Given the description of an element on the screen output the (x, y) to click on. 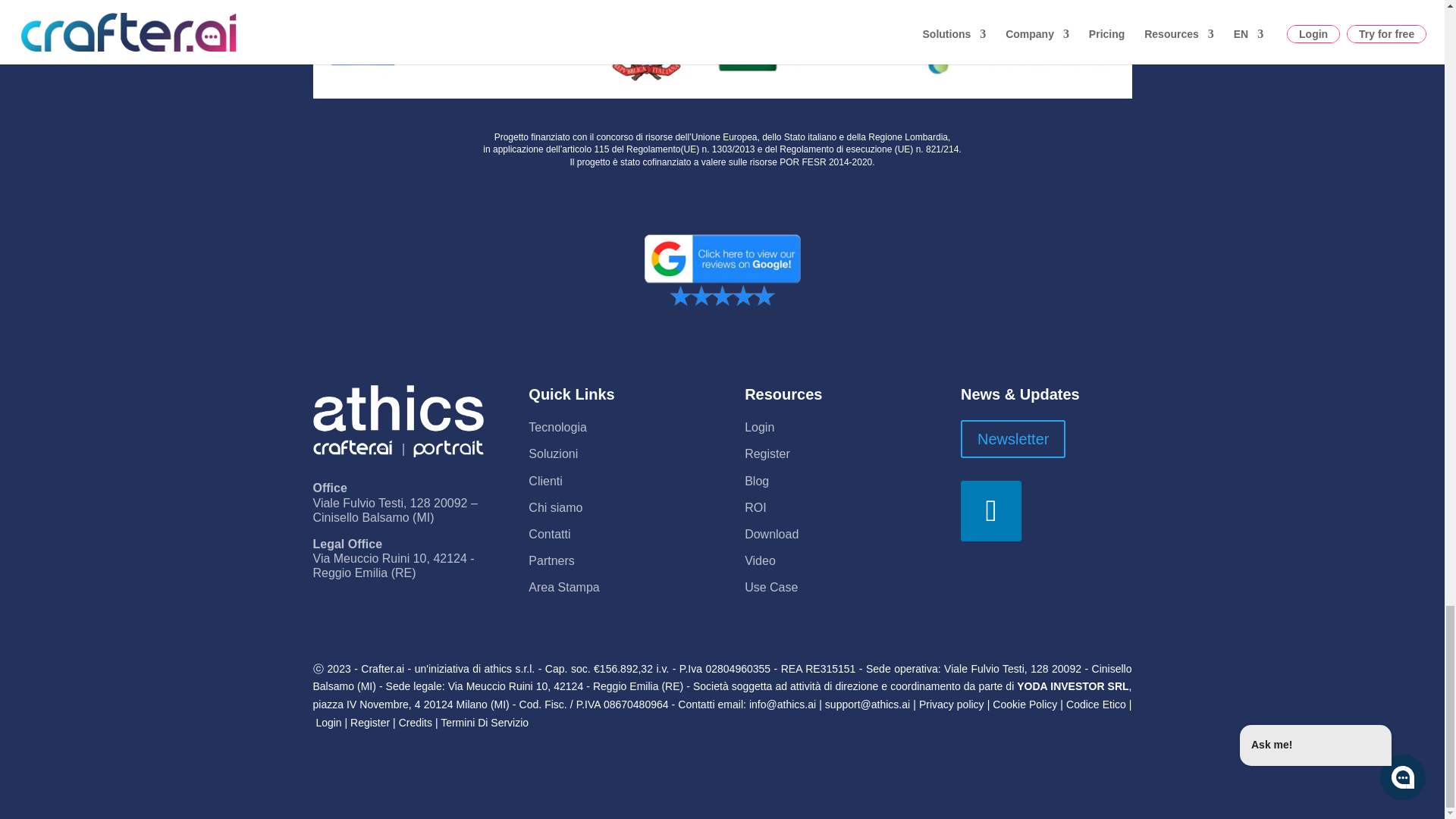
tecnologia piattaforma chatbot crafterai (557, 427)
loghi finanziamenti unione europea e regione lombardia (722, 49)
Soluzioni chatbot (553, 453)
athics logo footer (398, 421)
crafterai chatbot reviews google (721, 267)
